Given the description of an element on the screen output the (x, y) to click on. 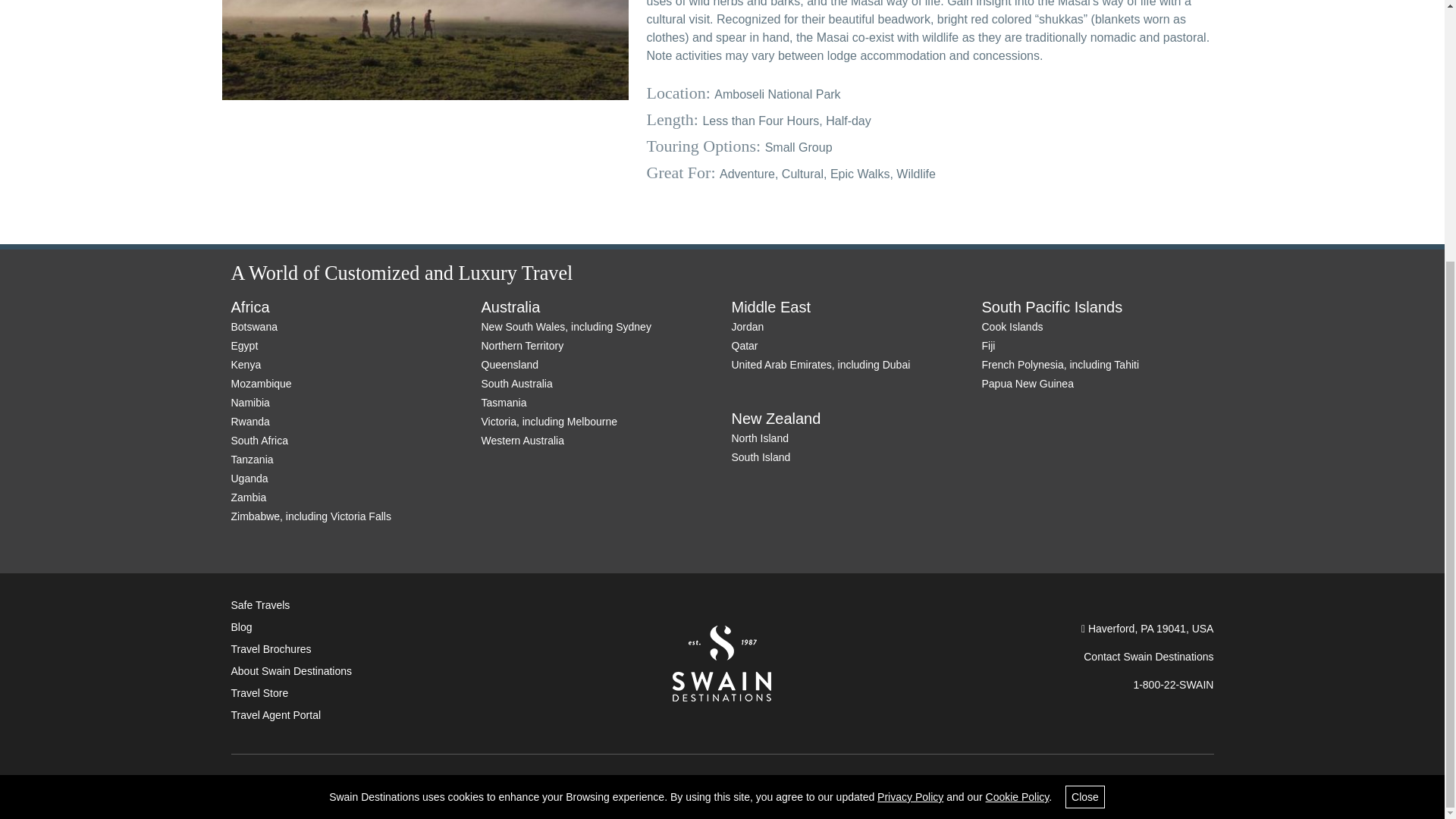
Africa (249, 306)
Tanzania (251, 459)
Mozambique (260, 383)
Australia (510, 306)
Privacy Policy (910, 420)
Close (1085, 421)
Zambia (248, 497)
Namibia (249, 402)
Zimbabwe, including Victoria Falls (310, 516)
Egypt (243, 345)
Uganda (248, 478)
Rwanda (249, 421)
Botswana (253, 326)
Kenya (245, 364)
South Africa (259, 440)
